Given the description of an element on the screen output the (x, y) to click on. 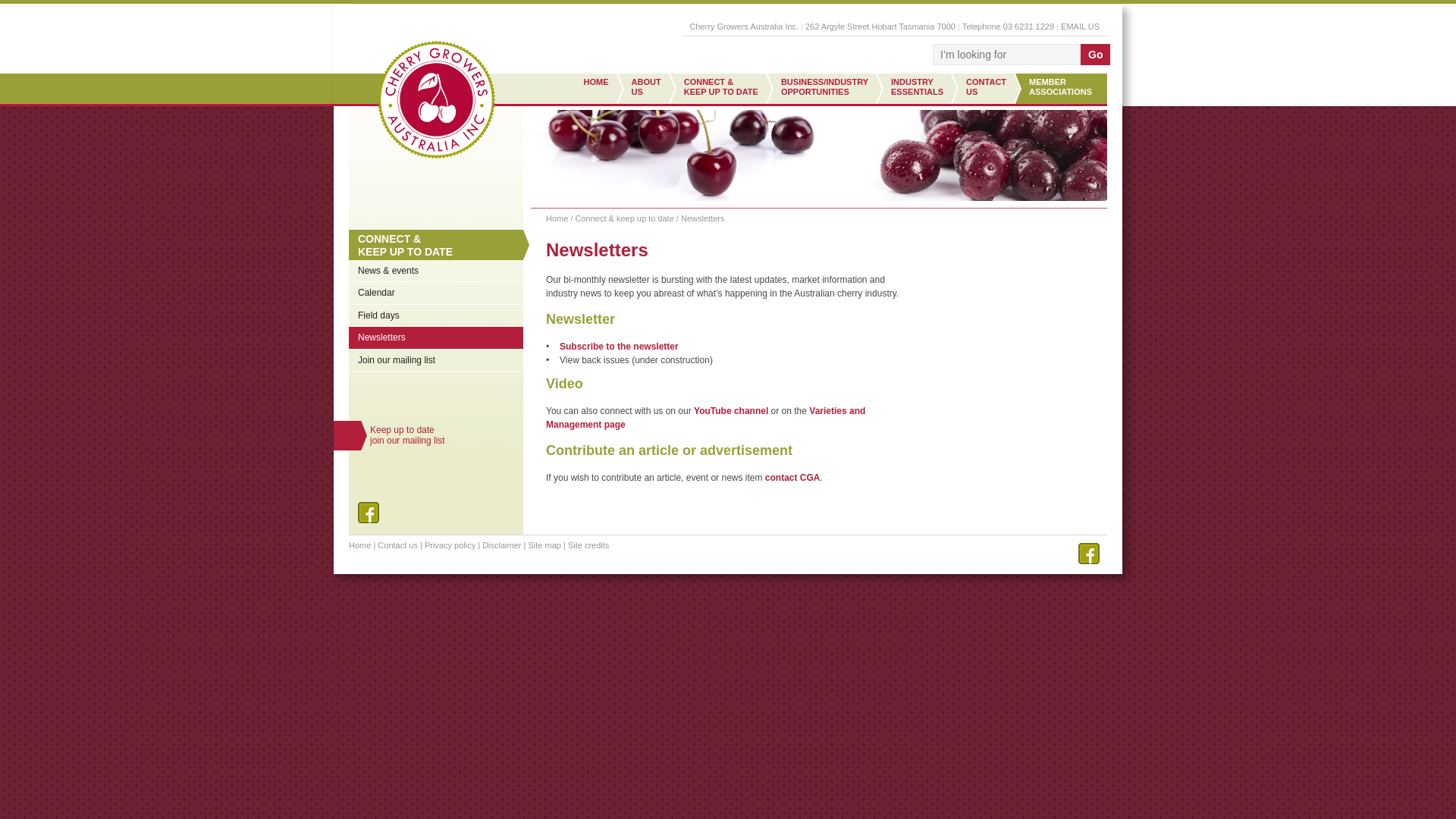
Go (1094, 54)
Varieties and Management Page (705, 417)
Go (1094, 54)
EMAIL US (1080, 26)
HOME (592, 89)
Subscribe to the Newsletter (618, 346)
03 6231 1229 (917, 89)
262 Argyle Street Hobart Tasmania 7000 (1028, 26)
